Given the description of an element on the screen output the (x, y) to click on. 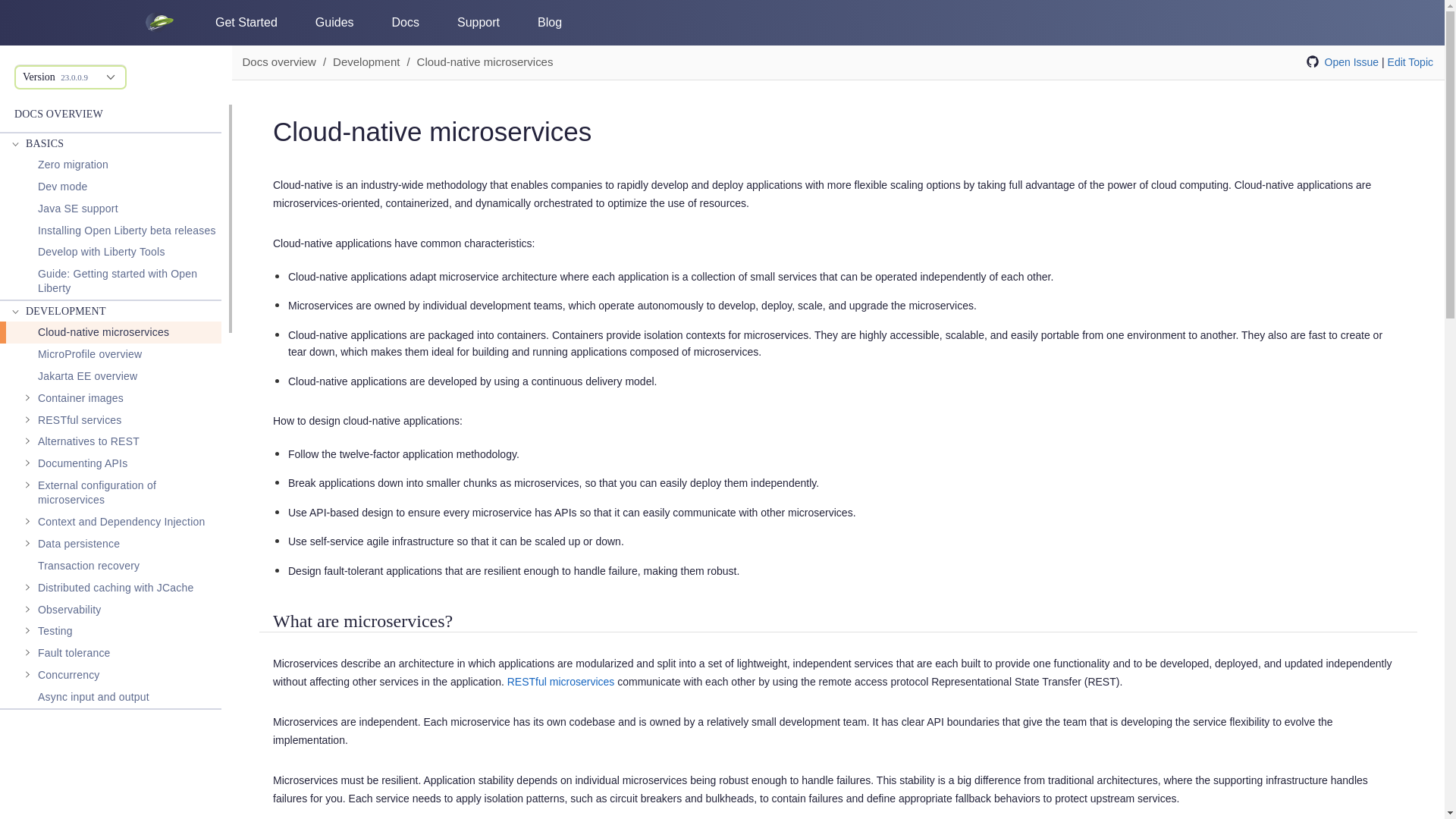
Docs (405, 22)
Guides (334, 22)
Java SE support (77, 209)
MicroProfile overview (89, 354)
Jakarta EE overview (86, 376)
DOCS OVERVIEW (58, 113)
Get Started (246, 22)
Dev mode (62, 187)
Guide: Getting started with Open Liberty (129, 280)
Zero migration (72, 164)
Develop with Liberty Tools (101, 251)
23.0.0.9 (74, 76)
Installing Open Liberty beta releases (126, 230)
Cloud-native microservices (110, 332)
Support (478, 22)
